Given the description of an element on the screen output the (x, y) to click on. 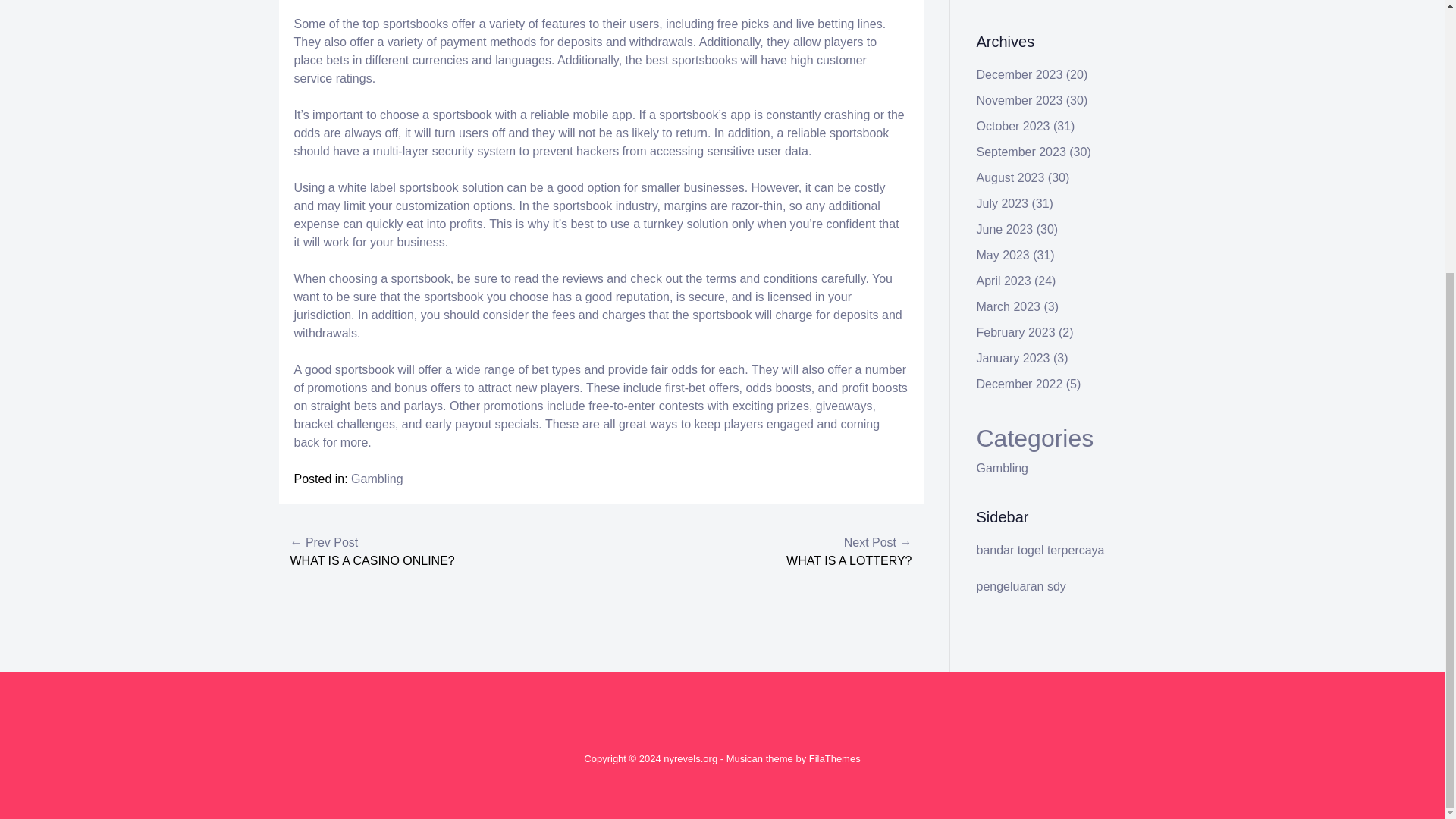
May 2023 (1002, 254)
Gambling (1001, 468)
March 2023 (1008, 306)
December 2023 (1019, 74)
October 2023 (1012, 125)
November 2023 (1019, 100)
nyrevels.org (690, 758)
pengeluaran sdy (1020, 585)
August 2023 (1010, 177)
June 2023 (1004, 228)
